Given the description of an element on the screen output the (x, y) to click on. 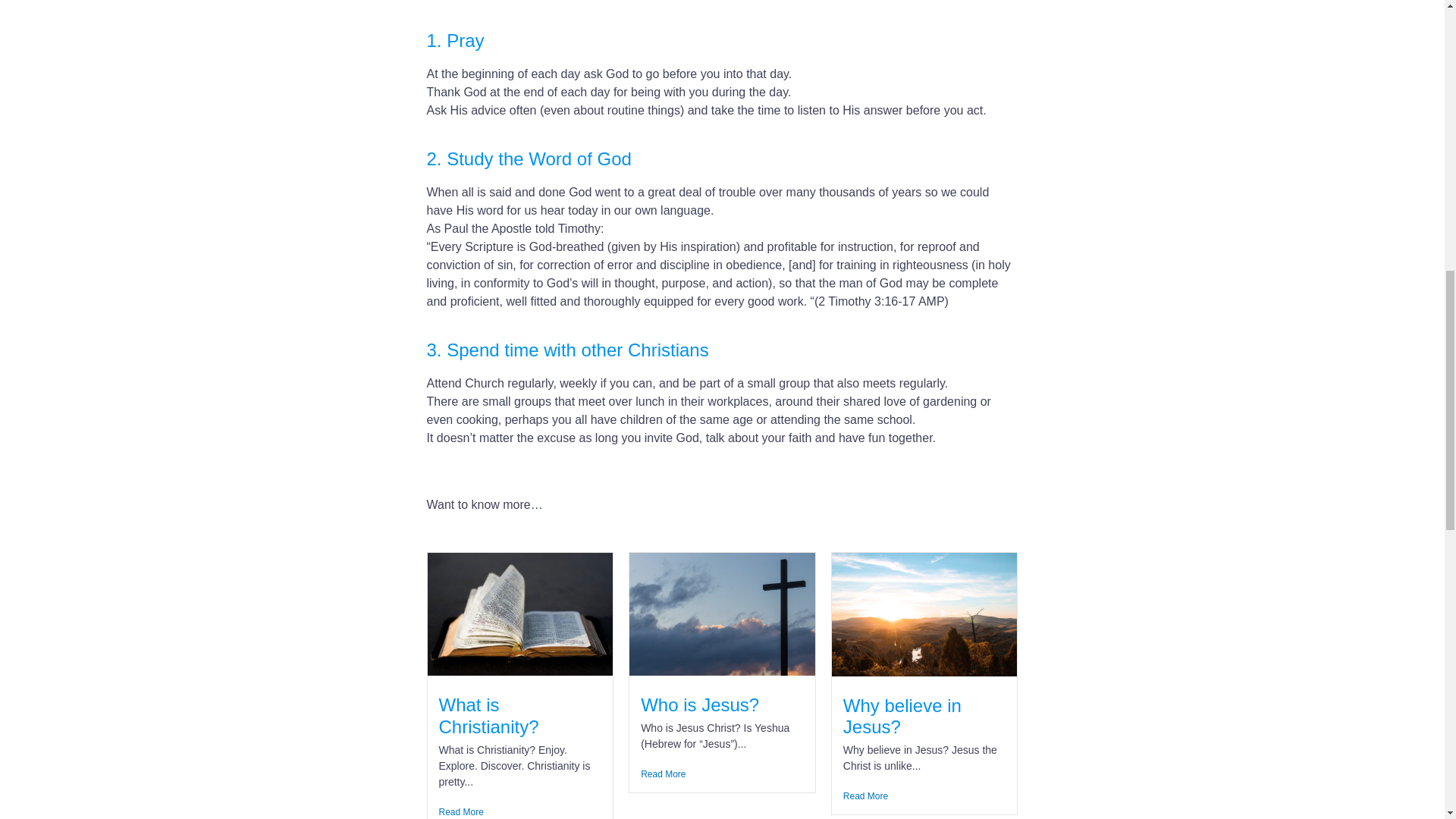
What is Christianity? (488, 715)
Who is Jesus? (699, 704)
Why believe in Jesus? (901, 716)
